Given the description of an element on the screen output the (x, y) to click on. 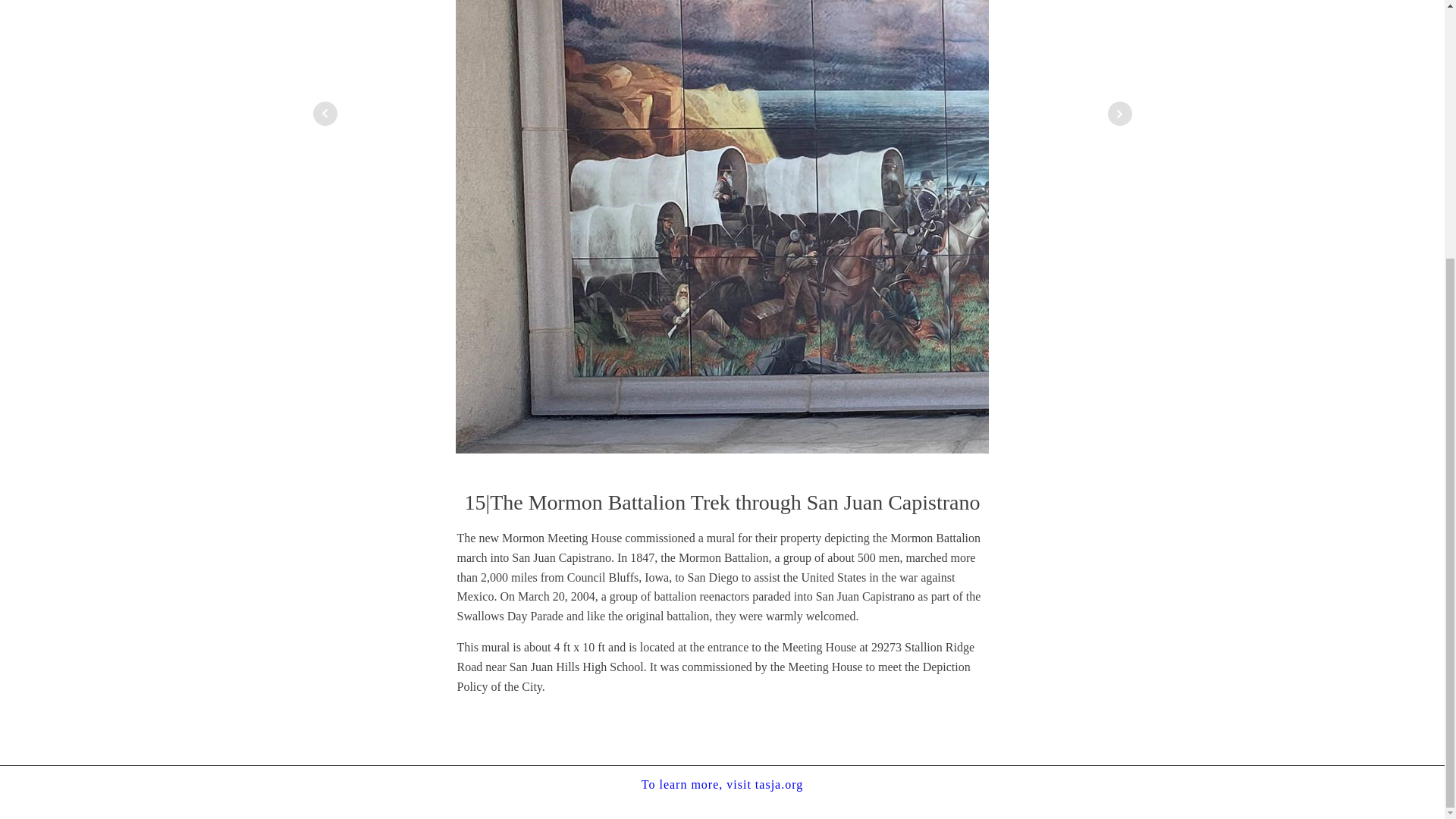
To learn more, visit tasja.org (722, 784)
Prev (324, 113)
Next (1118, 113)
